Given the description of an element on the screen output the (x, y) to click on. 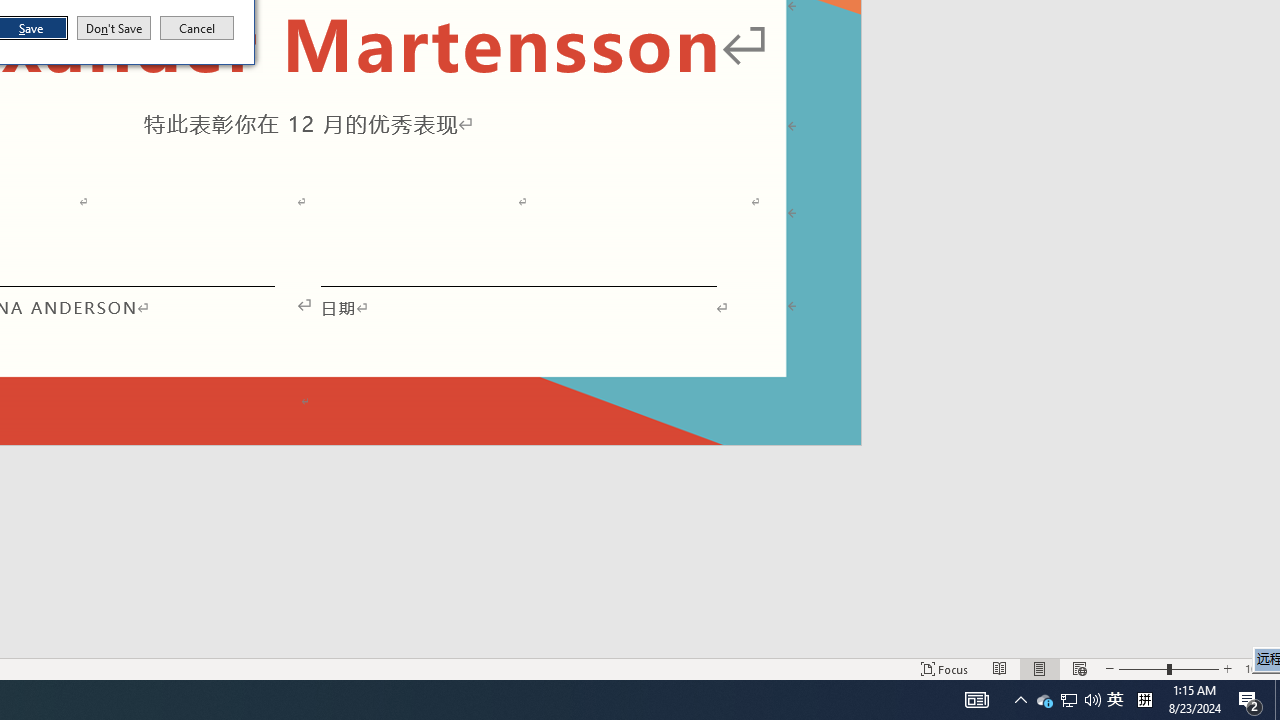
Don't Save (1115, 699)
